Given the description of an element on the screen output the (x, y) to click on. 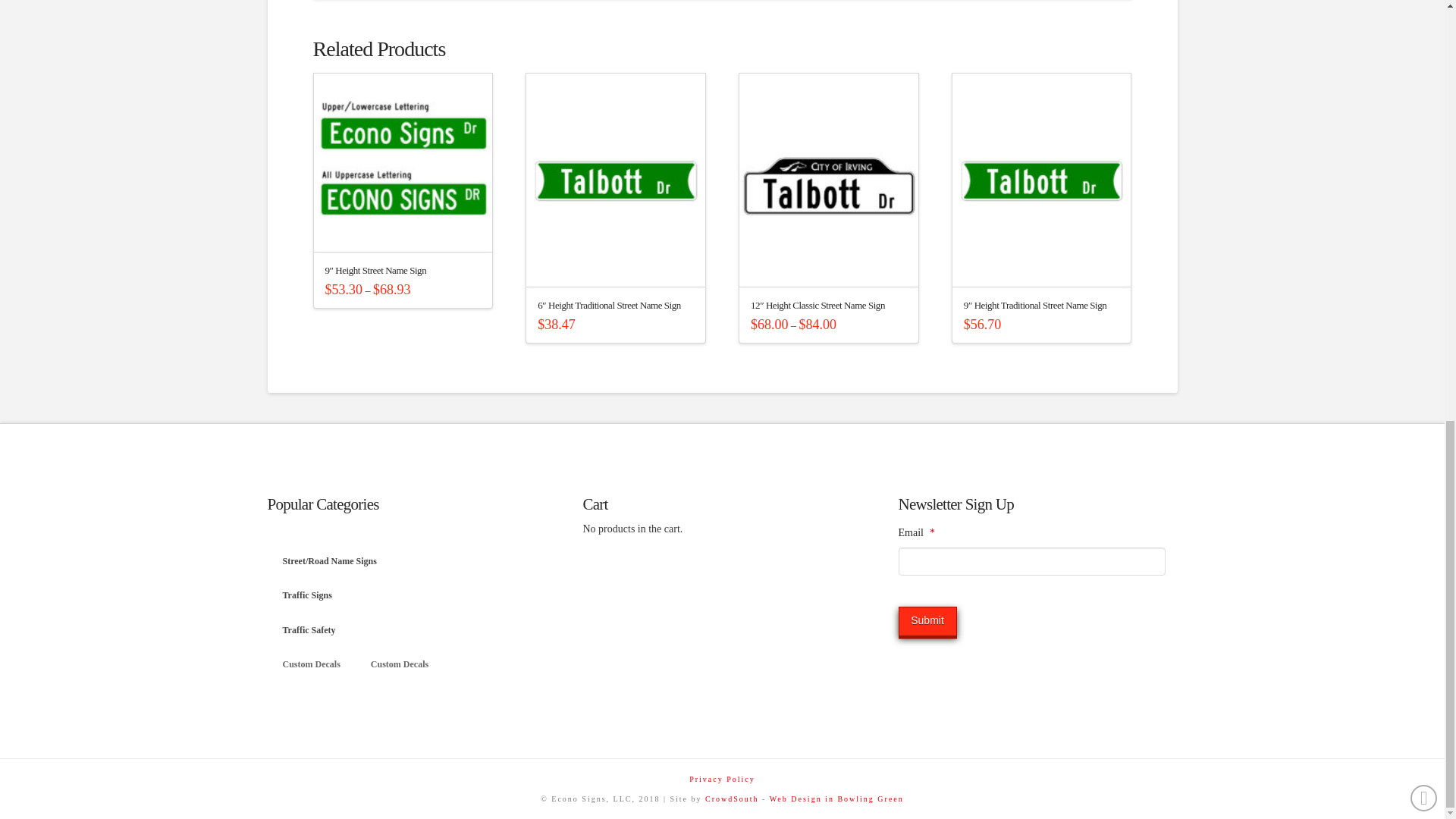
Submit (927, 621)
